Given the description of an element on the screen output the (x, y) to click on. 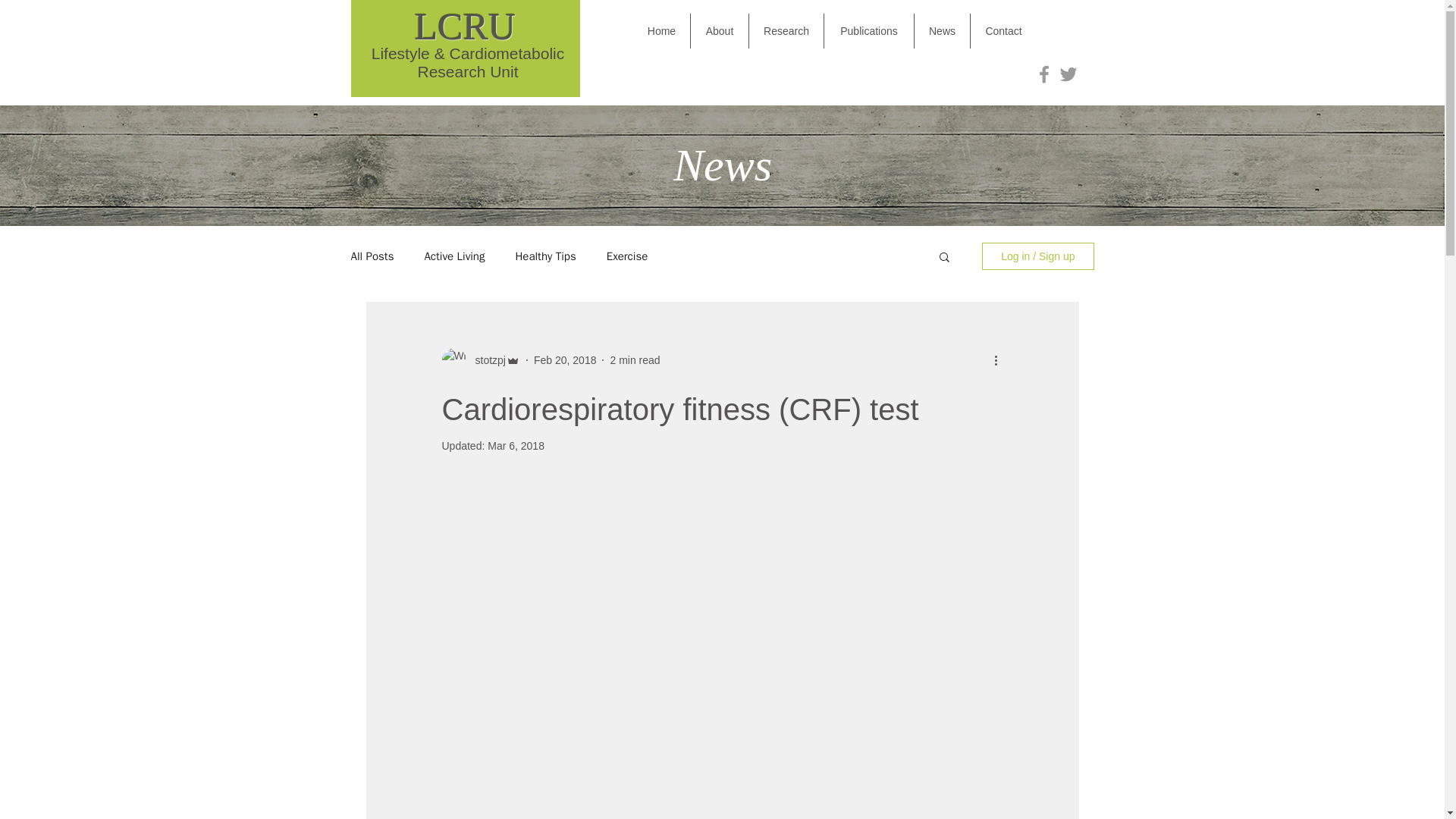
LCRU (464, 25)
News (941, 30)
Active Living (453, 255)
Mar 6, 2018 (515, 445)
Publications (869, 30)
stotzpj (485, 359)
Research (786, 30)
Home (661, 30)
All Posts (371, 255)
Contact (1003, 30)
About (719, 30)
Healthy Tips (545, 255)
Feb 20, 2018 (565, 358)
2 min read (634, 358)
Exercise (627, 255)
